Given the description of an element on the screen output the (x, y) to click on. 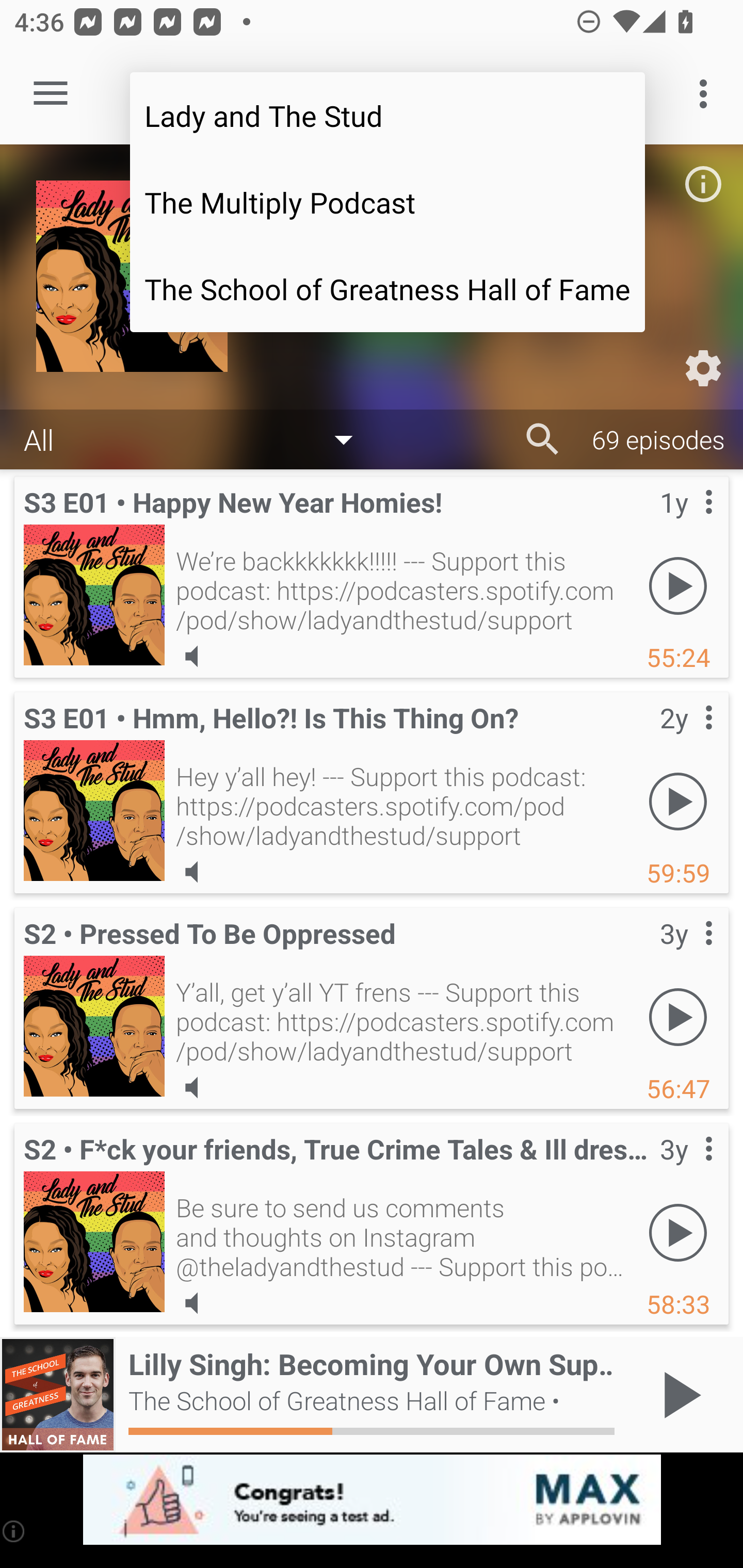
Lady and The Stud (387, 115)
The Multiply Podcast (387, 202)
The School of Greatness Hall of Fame (387, 289)
